Given the description of an element on the screen output the (x, y) to click on. 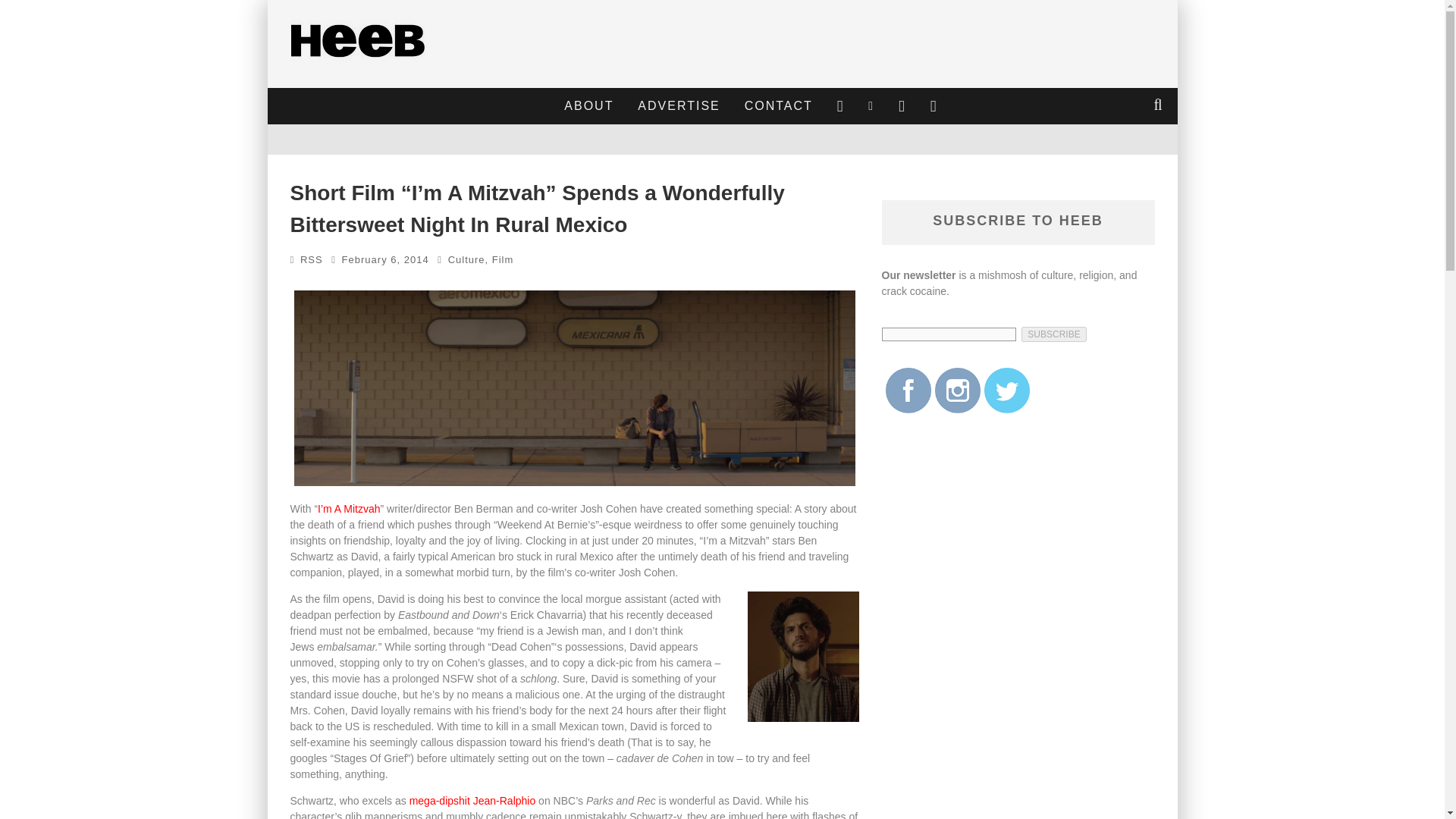
Facebook (908, 390)
View all posts in Film (502, 259)
Twitter (1006, 390)
Film (502, 259)
View all posts in Culture (466, 259)
ADVERTISE (678, 105)
ABOUT (588, 105)
Instagram (956, 390)
CONTACT (778, 105)
SUBSCRIBE (1054, 334)
